Given the description of an element on the screen output the (x, y) to click on. 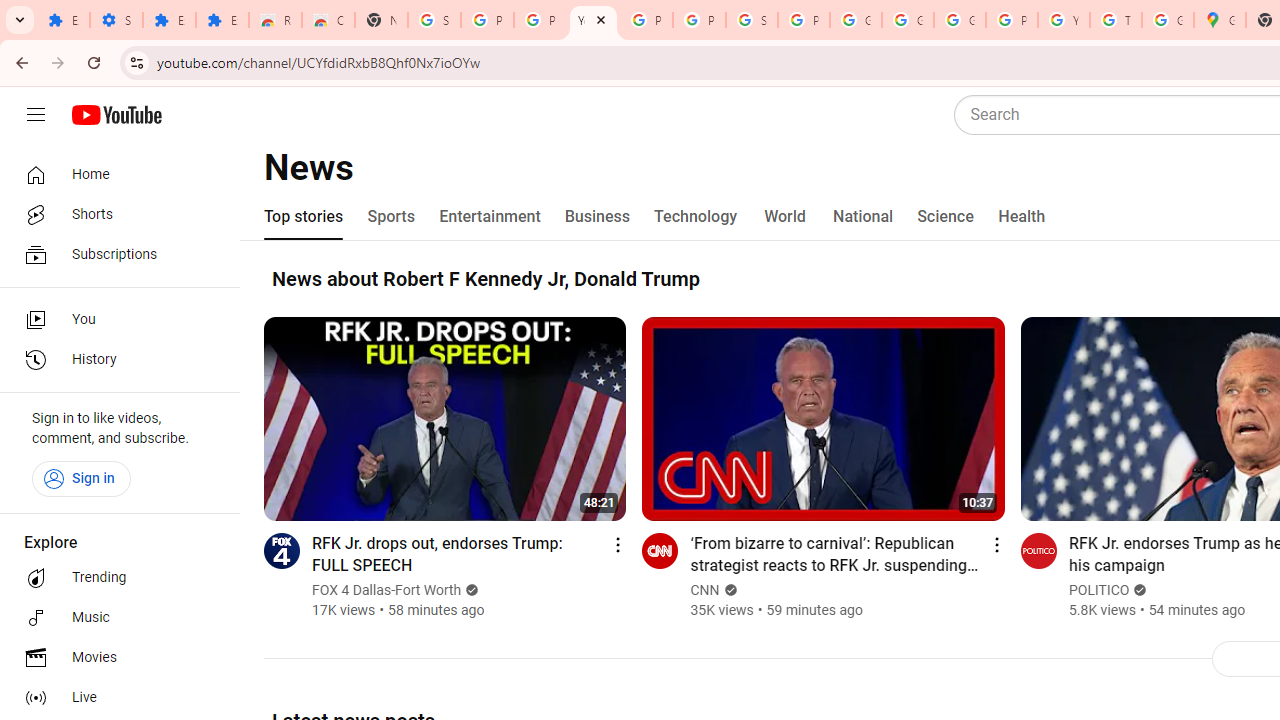
Shorts (113, 214)
FOX 4 Dallas-Fort Worth (387, 590)
Music (113, 617)
Chrome Web Store - Themes (328, 20)
YouTube (593, 20)
World (785, 216)
Technology (696, 216)
Trending (113, 578)
Subscriptions (113, 254)
